Given the description of an element on the screen output the (x, y) to click on. 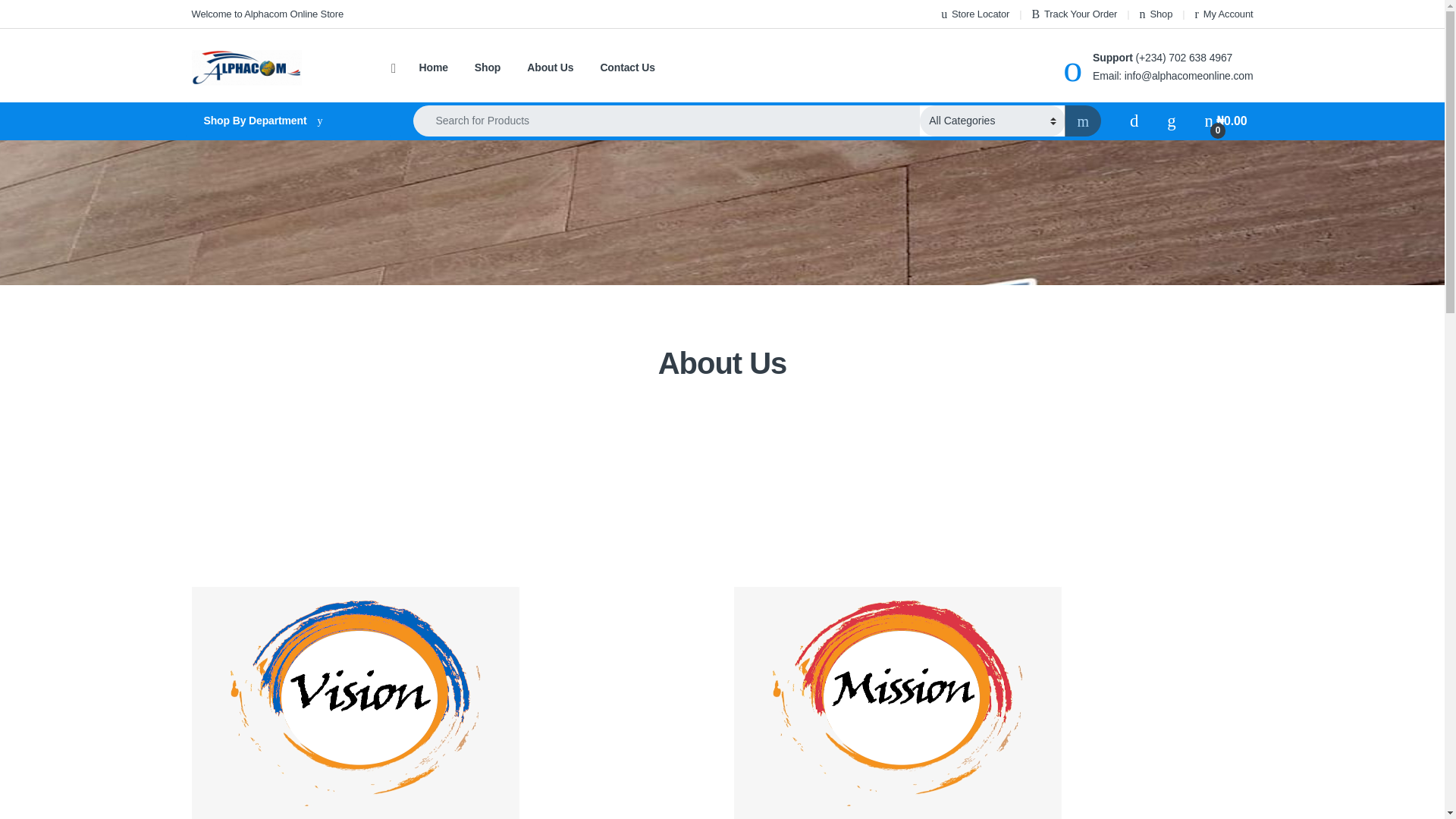
Shop (1156, 13)
Shop (1156, 13)
Track Your Order (1073, 13)
Store Locator (974, 13)
Track Your Order (1073, 13)
My Account (1224, 13)
Store Locator (974, 13)
Welcome to Alphacom Online Store (266, 13)
Welcome to Alphacom Online Store (266, 13)
My Account (1224, 13)
